Given the description of an element on the screen output the (x, y) to click on. 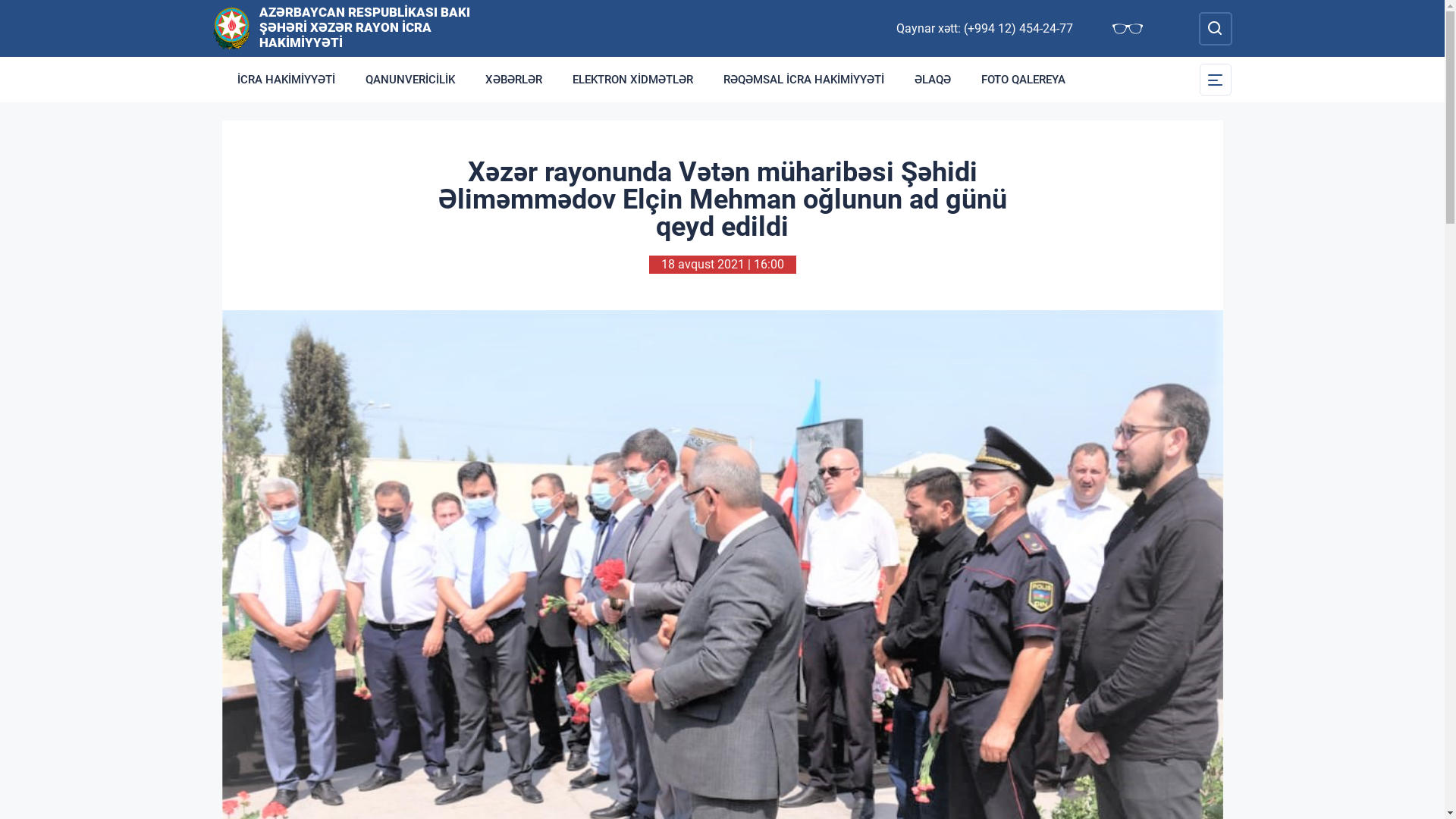
QANUNVERICILIK Element type: text (410, 79)
FOTO QALEREYA Element type: text (1023, 79)
